Given the description of an element on the screen output the (x, y) to click on. 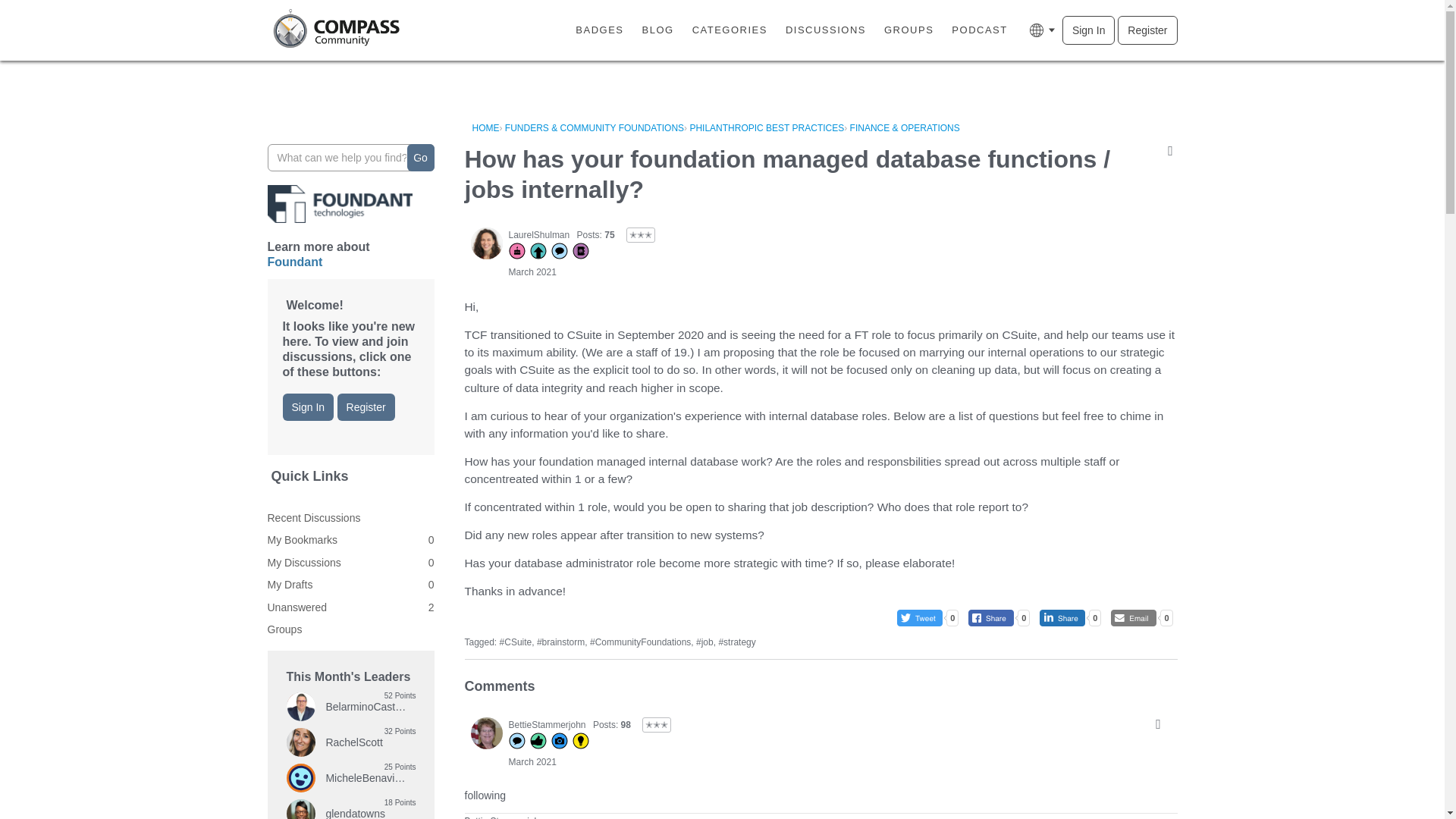
HOME (485, 127)
March 15, 2021 3:54PM (532, 271)
LaurelShulman (486, 243)
Sign In (1088, 30)
First Comment (516, 742)
DISCUSSIONS (825, 30)
BettieStammerjohn (546, 725)
CATEGORIES (729, 30)
BLOG (657, 30)
5 Up Votes (537, 252)
Go (419, 157)
Global Navigation (1042, 30)
PHILANTHROPIC BEST PRACTICES (766, 127)
March 2021 (532, 271)
